Given the description of an element on the screen output the (x, y) to click on. 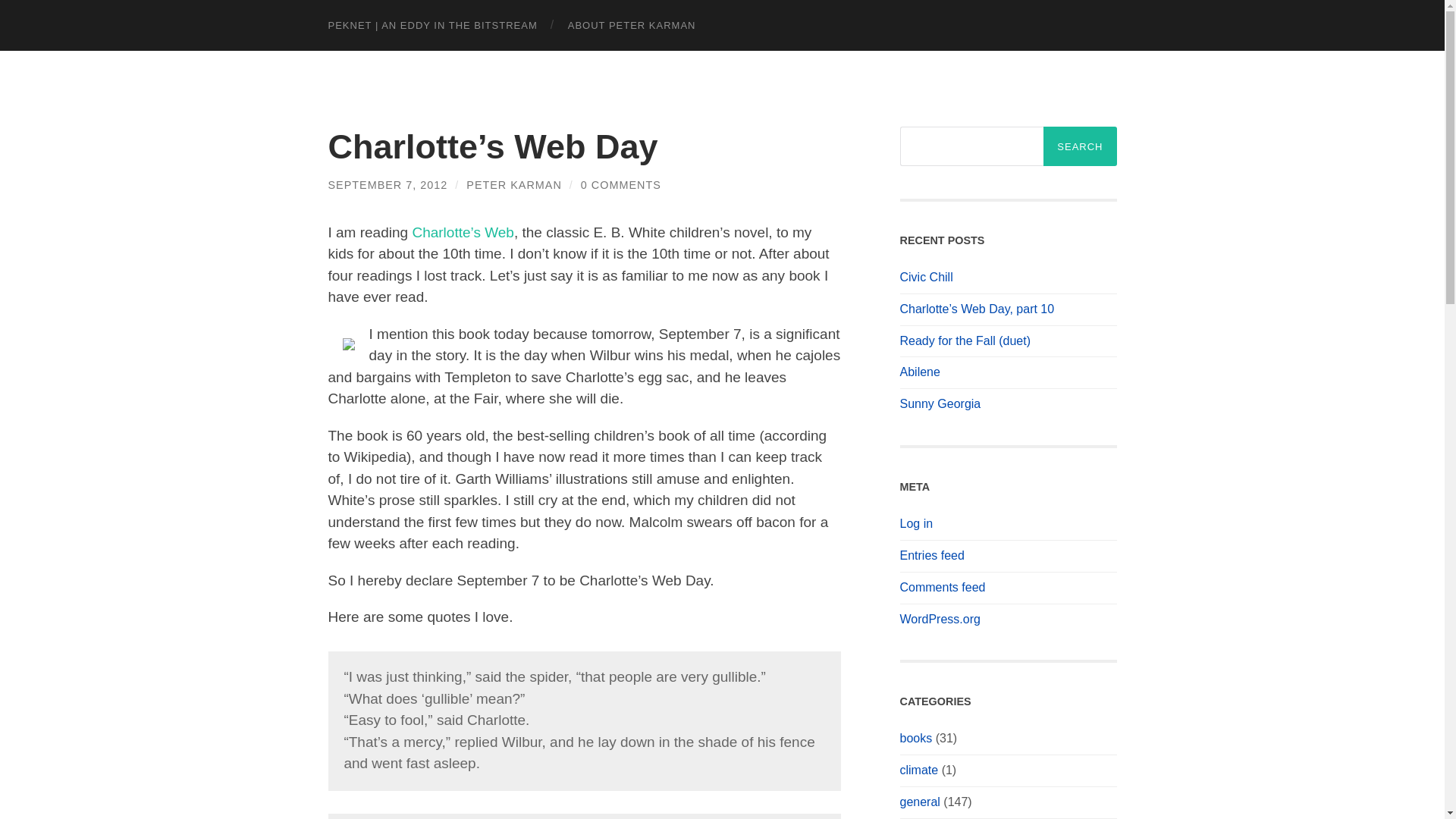
Sunny Georgia (939, 403)
Comments feed (942, 586)
ABOUT PETER KARMAN (632, 25)
Log in (916, 522)
climate (918, 769)
WordPress.org (939, 618)
Posts by Peter Karman (513, 184)
SEPTEMBER 7, 2012 (386, 184)
Search (1079, 146)
Entries feed (931, 554)
Abilene (919, 371)
books (915, 738)
0 COMMENTS (620, 184)
PETER KARMAN (513, 184)
Civic Chill (925, 277)
